Given the description of an element on the screen output the (x, y) to click on. 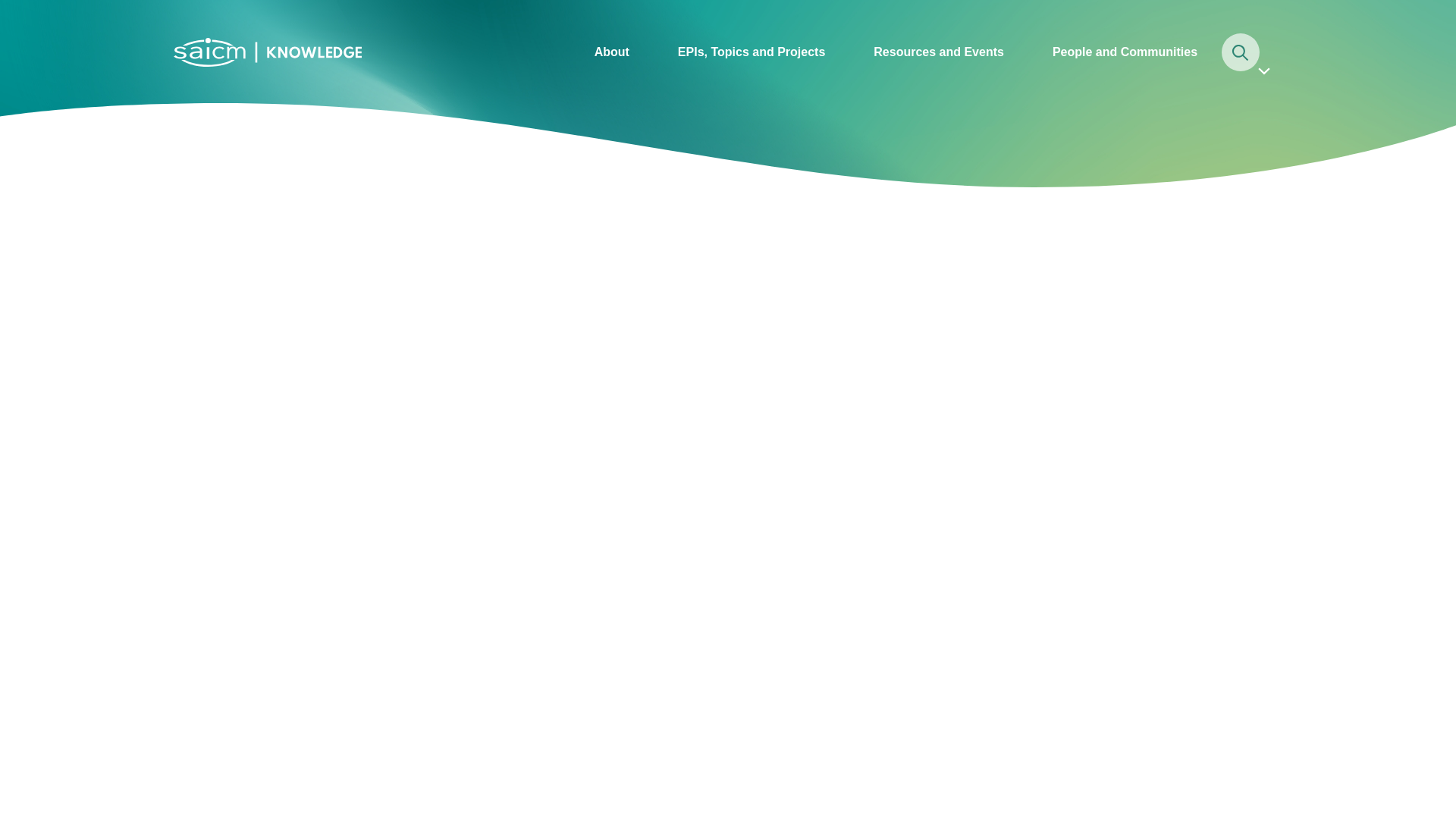
About (611, 52)
Emerging Policy Issues, topics, implementation (750, 52)
Library, Events, Articles (937, 52)
Home (267, 50)
